Given the description of an element on the screen output the (x, y) to click on. 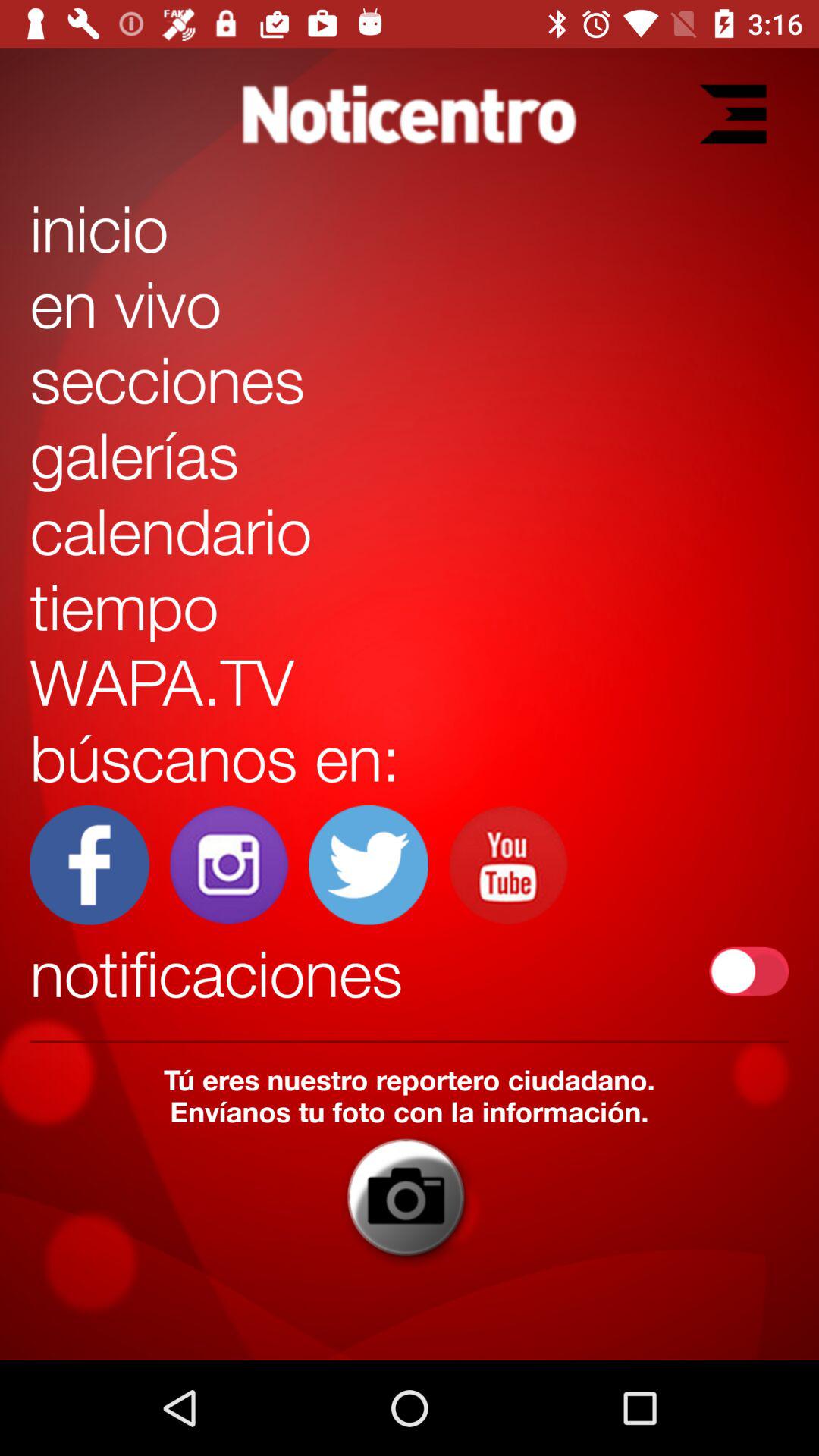
click on facebook (89, 864)
